Given the description of an element on the screen output the (x, y) to click on. 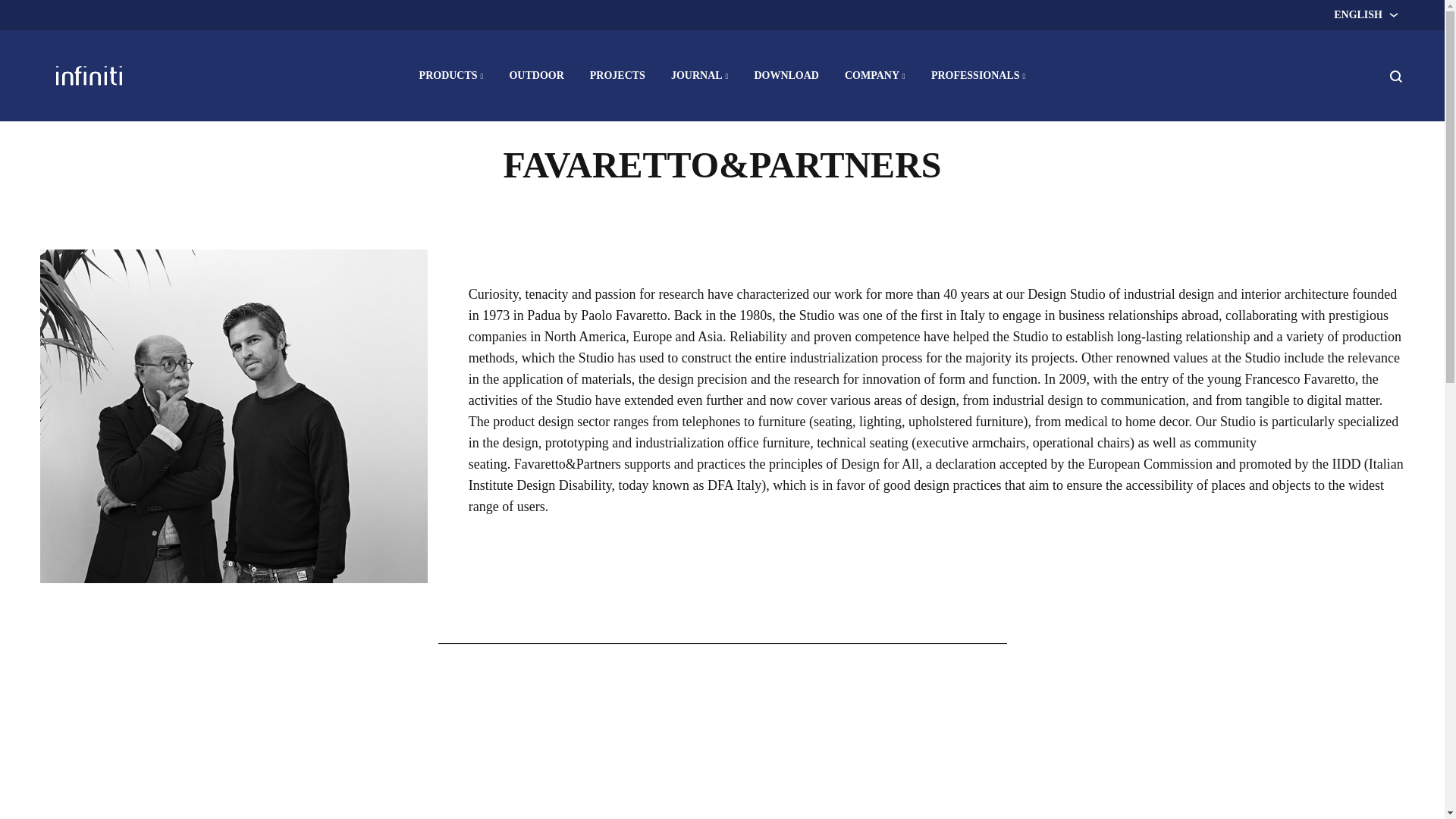
PRODUCTS (451, 75)
COMPANY (874, 75)
DOWNLOAD (786, 75)
PROFESSIONALS (978, 75)
PROJECTS (617, 75)
JOURNAL (700, 75)
OUTDOOR (535, 75)
